Given the description of an element on the screen output the (x, y) to click on. 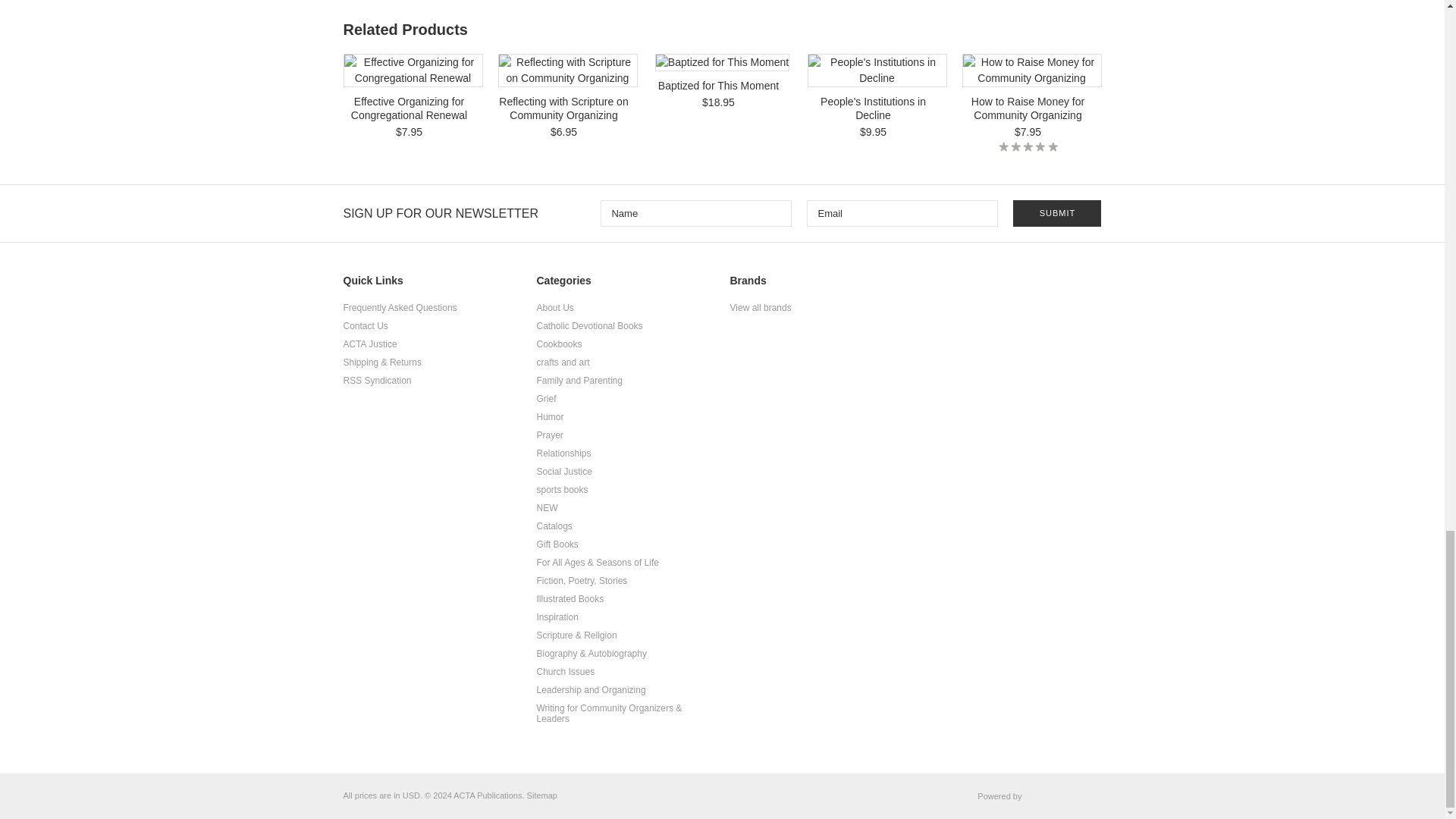
Instagram (1084, 285)
Email (901, 212)
US Dollars (411, 795)
Submit (1056, 212)
Facebook (996, 285)
YouTube (1054, 285)
Twitter (1025, 285)
Name (695, 212)
